Given the description of an element on the screen output the (x, y) to click on. 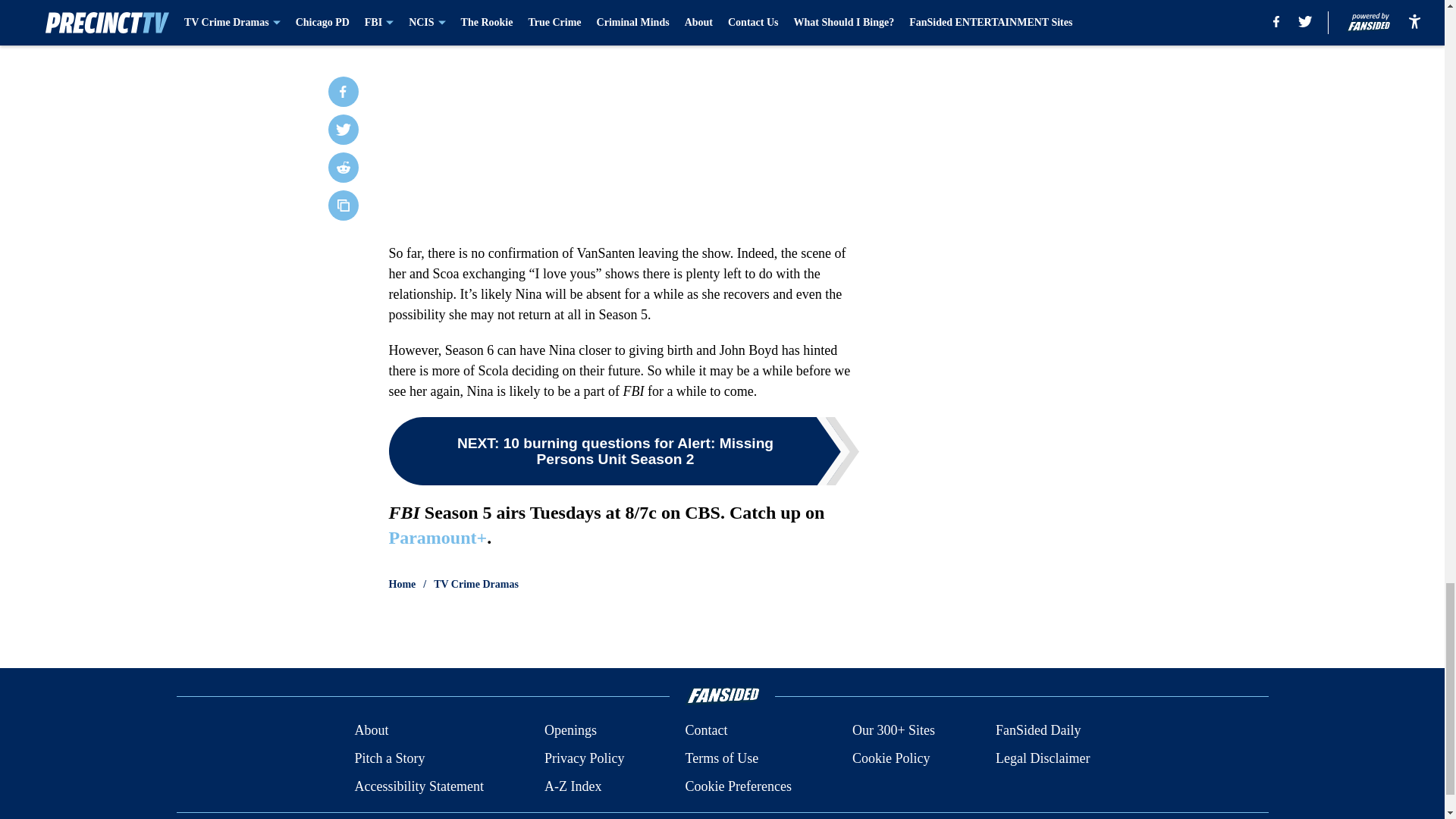
TV Crime Dramas (475, 584)
Home (401, 584)
